Given the description of an element on the screen output the (x, y) to click on. 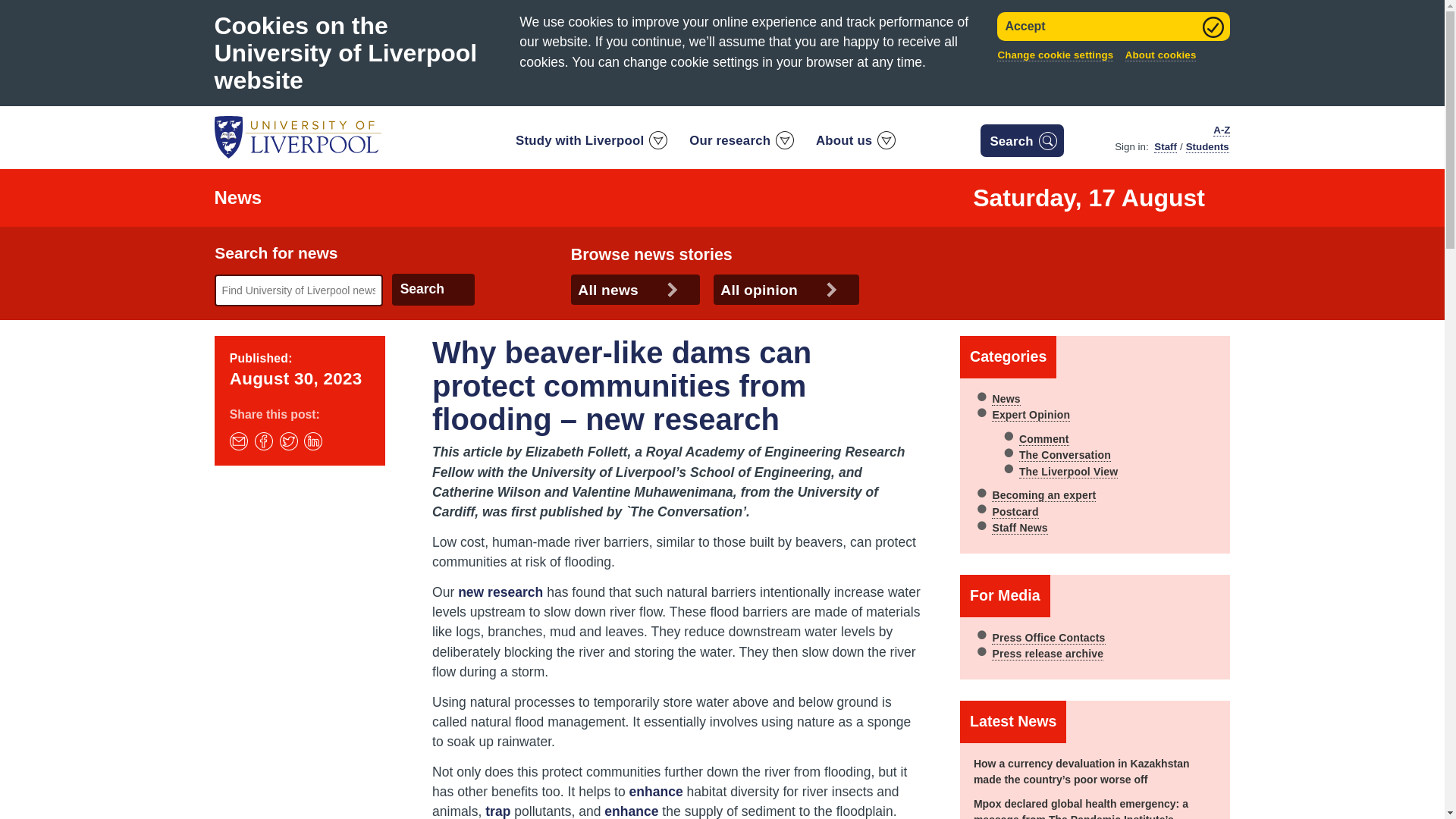
University of Liverpool Logo (297, 137)
Search (432, 289)
Accept (1113, 26)
University of Liverpool Home (297, 136)
